Given the description of an element on the screen output the (x, y) to click on. 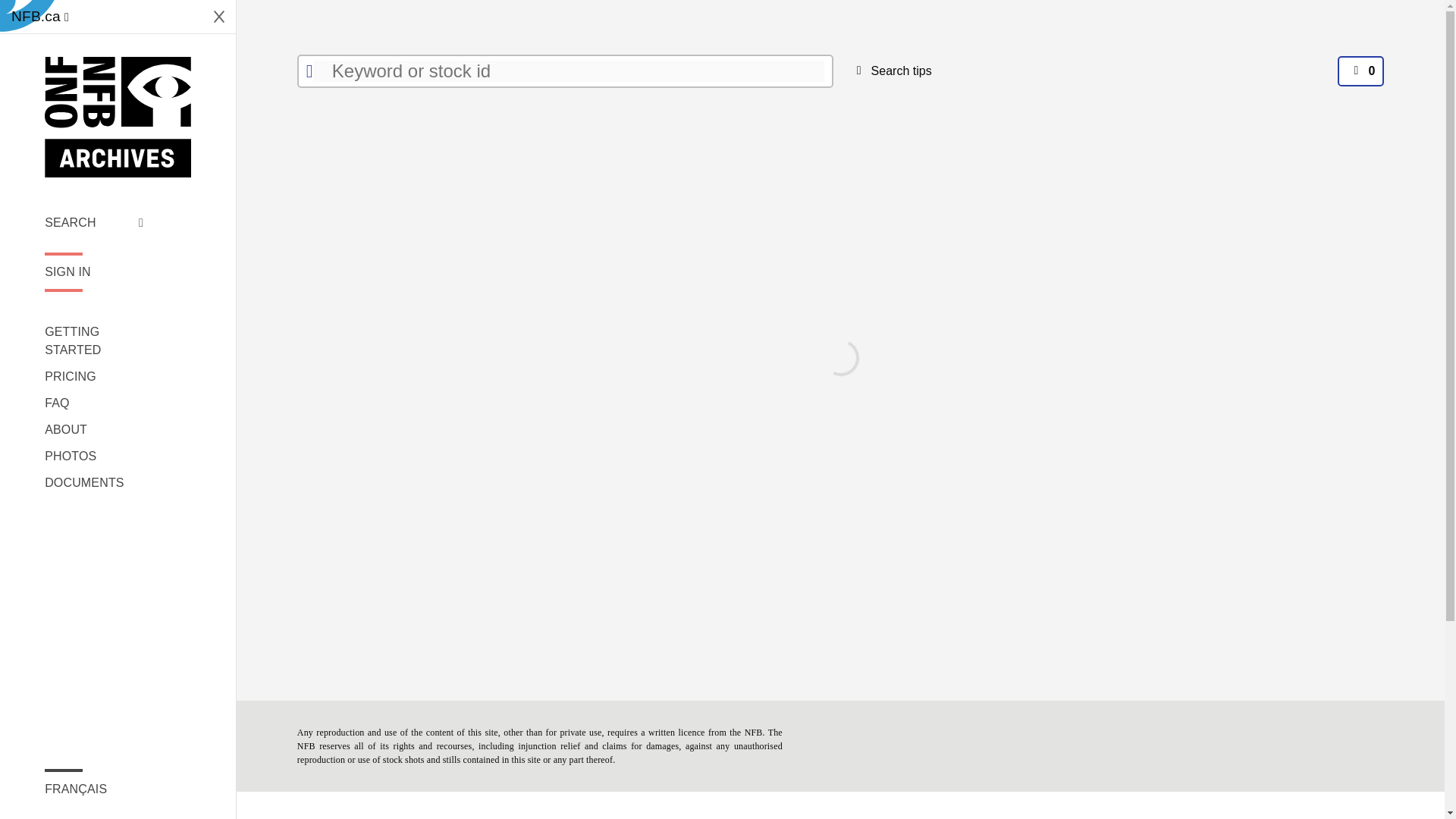
SEARCH (93, 222)
PHOTOS (93, 456)
National Film Board of Canada (117, 116)
GETTING STARTED (93, 340)
NFB.ca (39, 16)
ABOUT (93, 429)
Watch films on NFB.ca (39, 16)
Search tips (890, 71)
DOCUMENTS (93, 483)
0 (1361, 71)
